Given the description of an element on the screen output the (x, y) to click on. 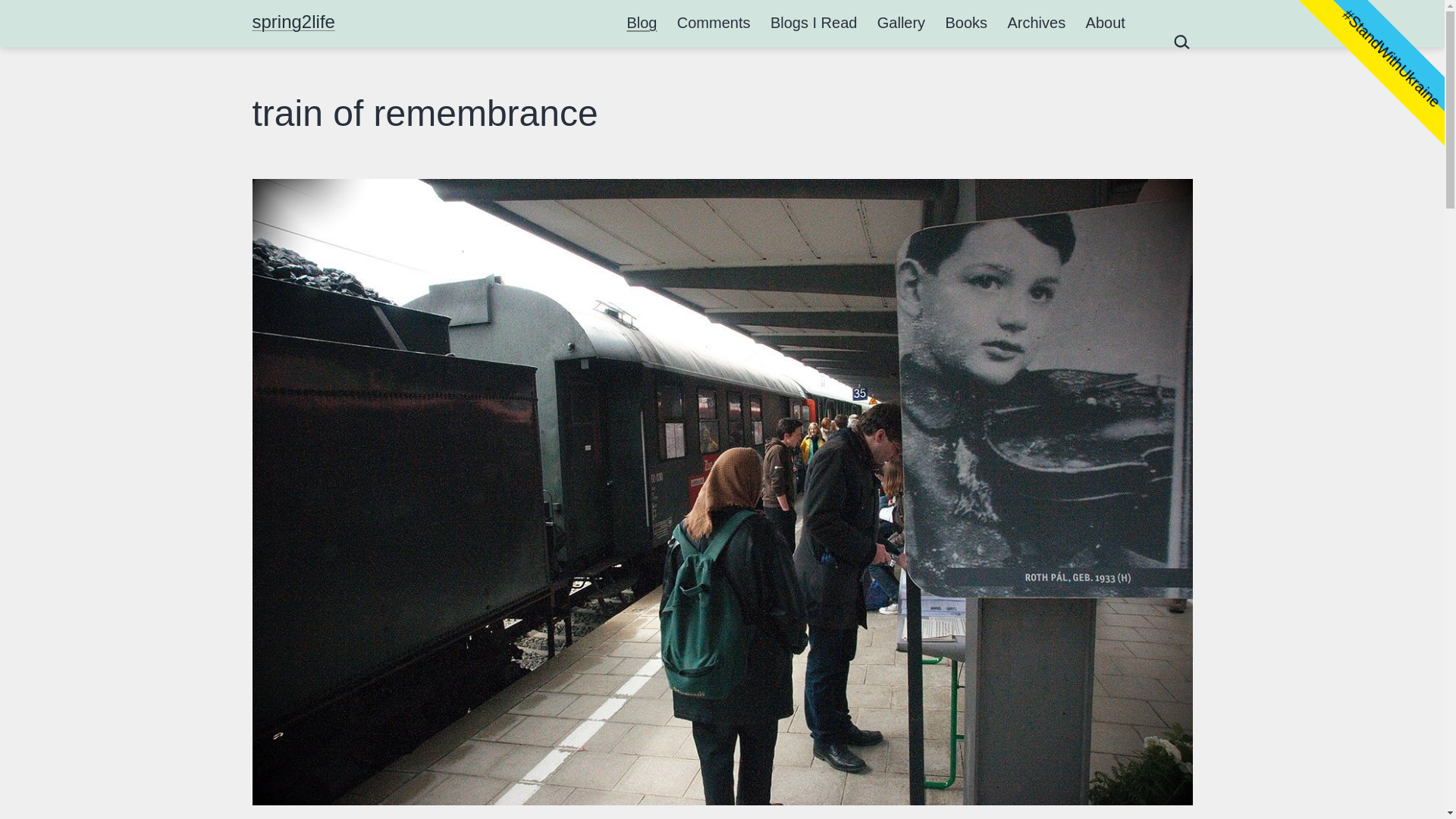
Books (965, 22)
Gallery (901, 22)
spring2life (292, 21)
Blogs I Read (813, 22)
Blog (640, 22)
About (1105, 22)
Comments (713, 22)
Archives (1036, 22)
